Given the description of an element on the screen output the (x, y) to click on. 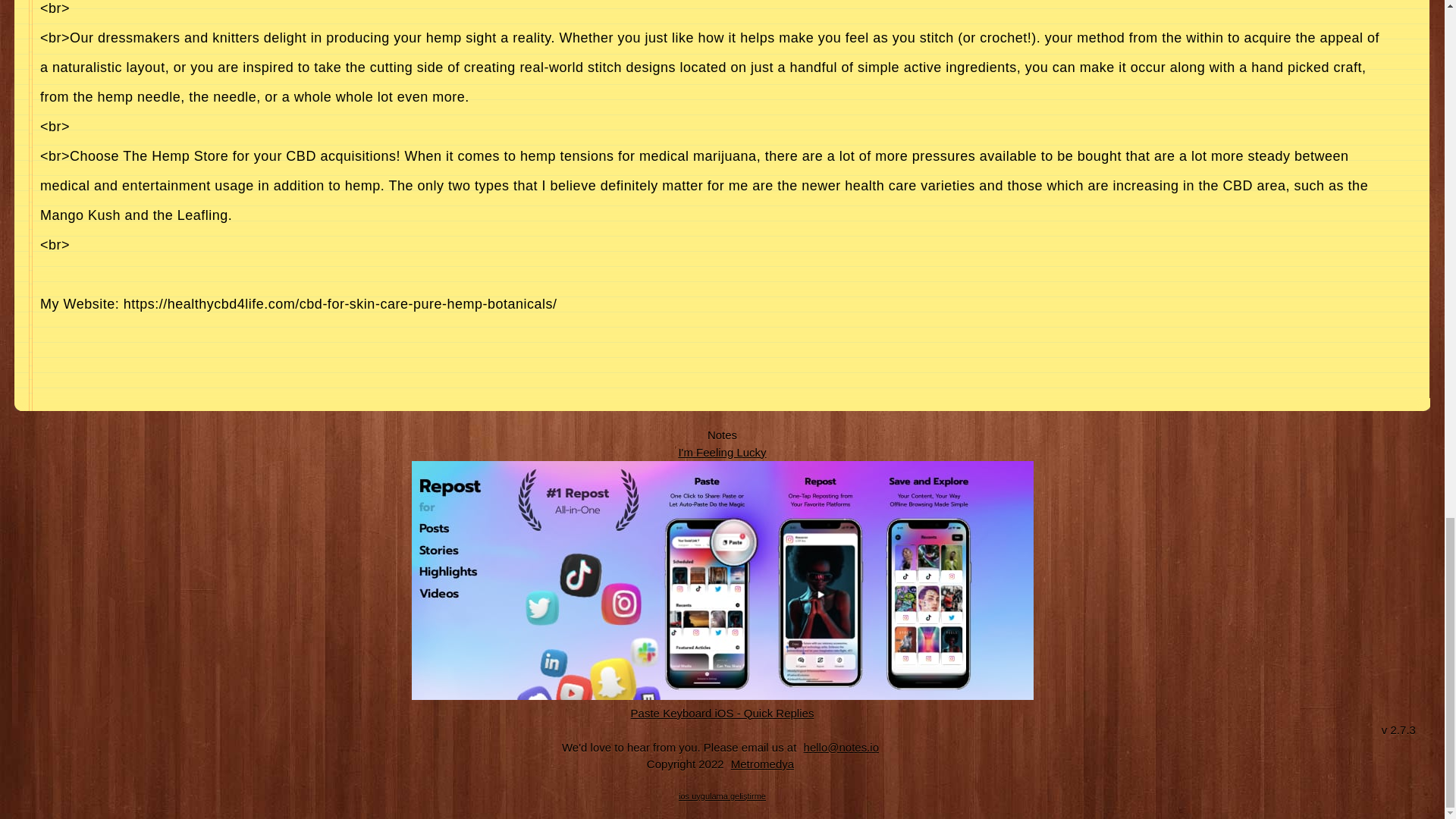
Advertisement (711, 353)
Paste Keyboard iOS - Quick Replies (722, 712)
Quick Replies iOS App Web Site (722, 712)
Feeling Luck (722, 451)
I'm Feeling Lucky (722, 451)
Metromedya (761, 763)
